Given the description of an element on the screen output the (x, y) to click on. 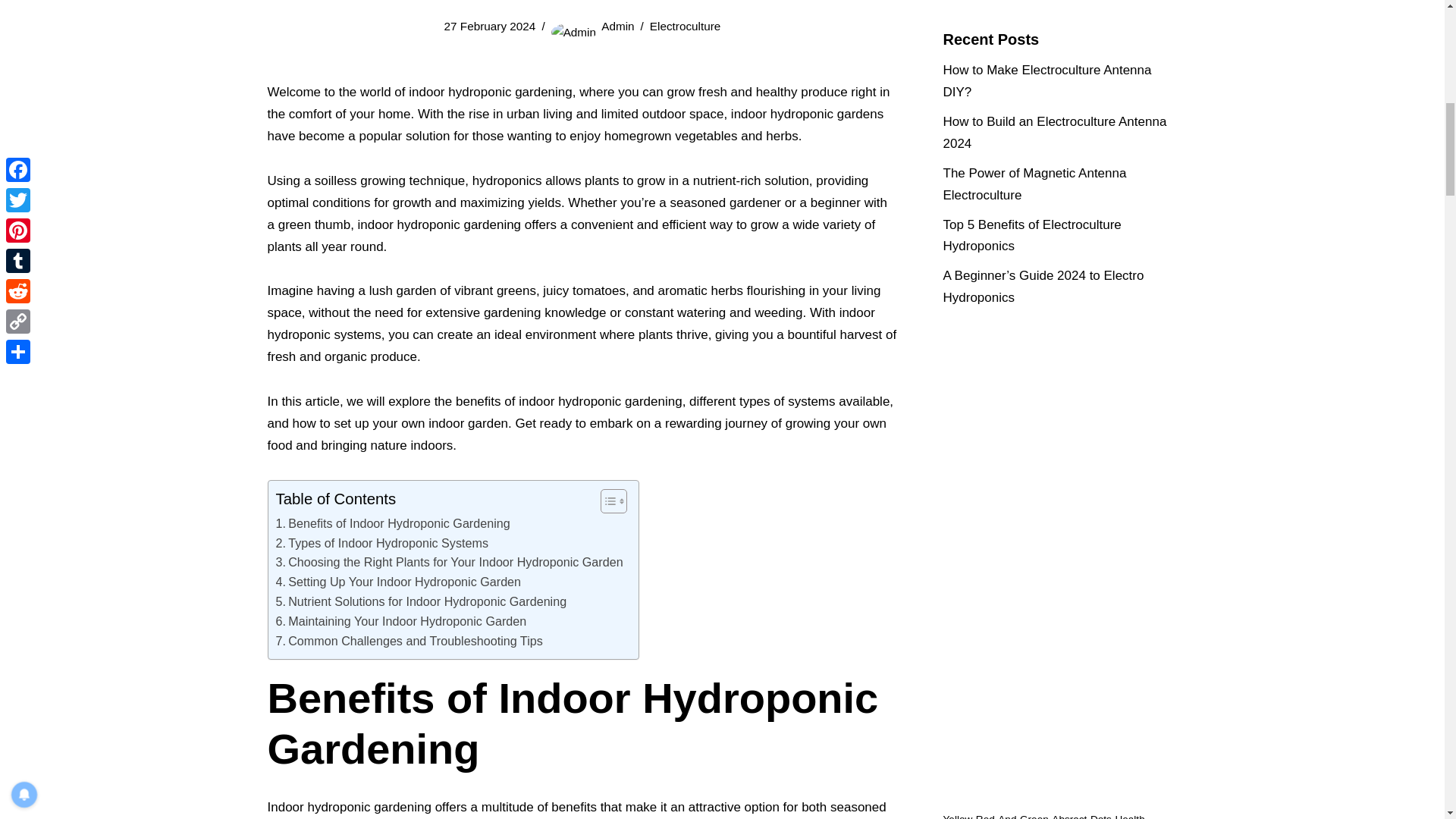
Benefits of Indoor Hydroponic Gardening (393, 523)
Posts by Admin (617, 25)
Common Challenges and Troubleshooting Tips (409, 641)
Choosing the Right Plants for Your Indoor Hydroponic Garden (449, 562)
Common Challenges and Troubleshooting Tips (409, 641)
Setting Up Your Indoor Hydroponic Garden (398, 582)
Nutrient Solutions for Indoor Hydroponic Gardening (421, 601)
Admin (617, 25)
Nutrient Solutions for Indoor Hydroponic Gardening (421, 601)
Electroculture (684, 25)
Maintaining Your Indoor Hydroponic Garden (401, 621)
Setting Up Your Indoor Hydroponic Garden (398, 582)
Maintaining Your Indoor Hydroponic Garden (401, 621)
Choosing the Right Plants for Your Indoor Hydroponic Garden (449, 562)
Types of Indoor Hydroponic Systems (381, 543)
